Given the description of an element on the screen output the (x, y) to click on. 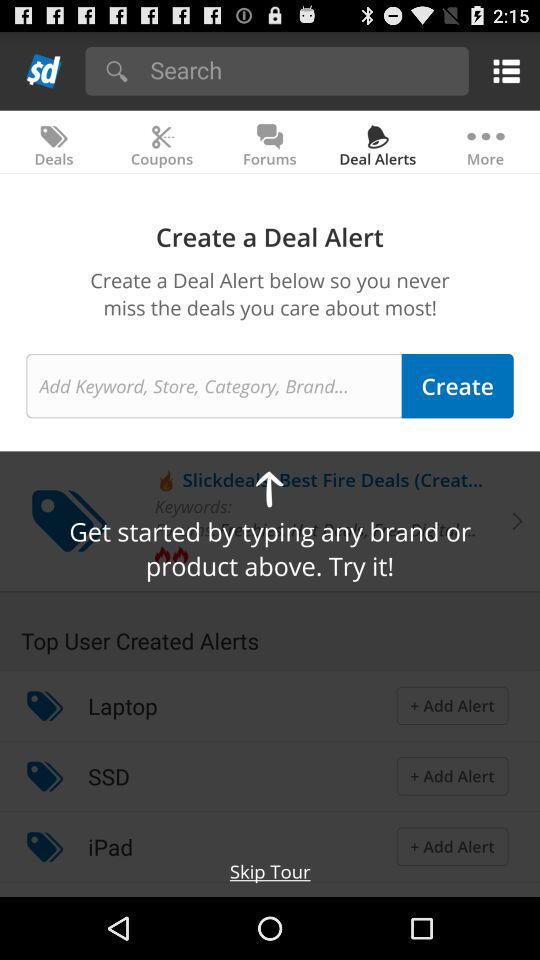
turn off the item above more icon (502, 70)
